Given the description of an element on the screen output the (x, y) to click on. 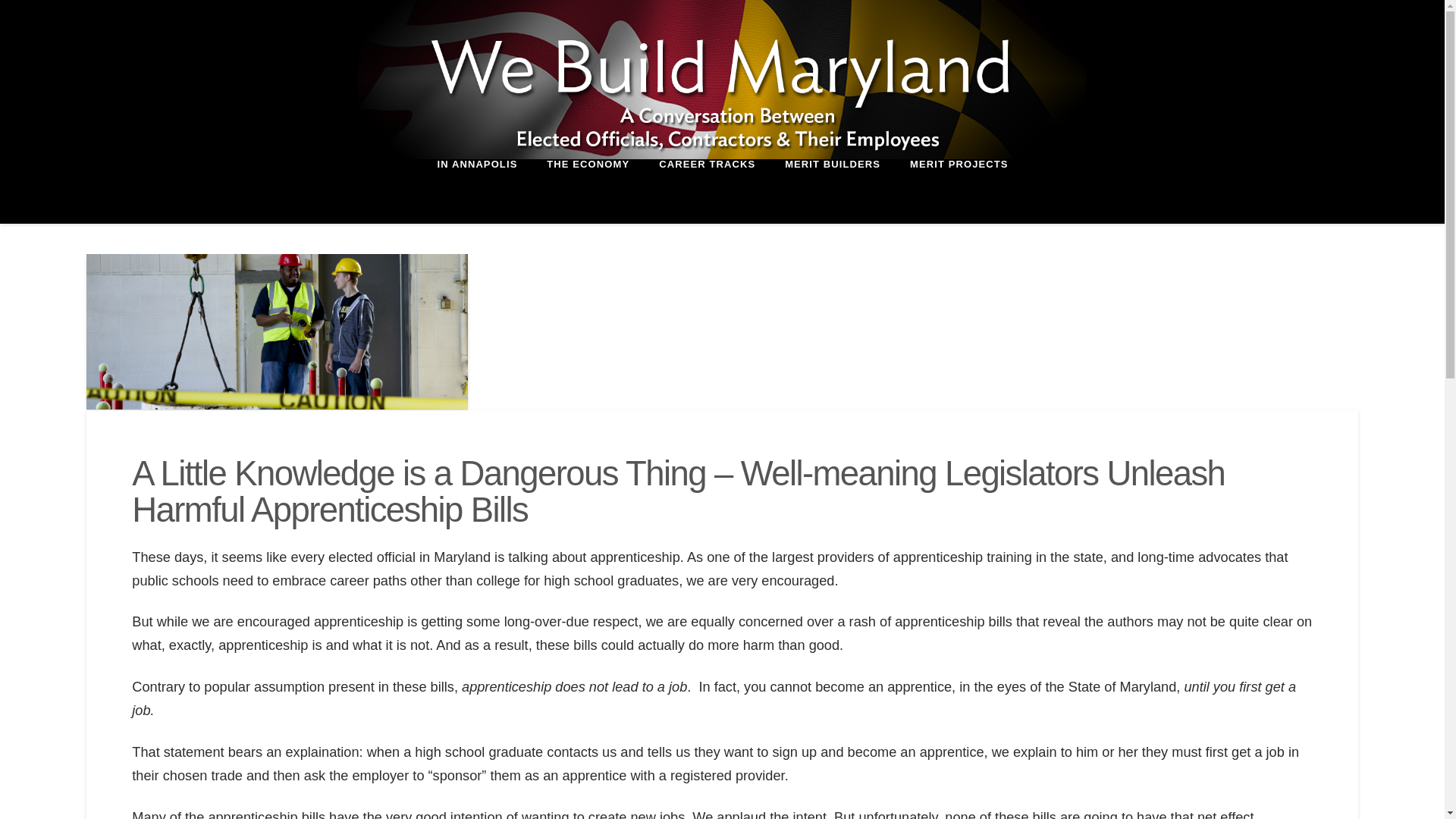
CAREER TRACKS (706, 190)
IN ANNAPOLIS (476, 190)
MERIT PROJECTS (959, 190)
MERIT BUILDERS (832, 190)
THE ECONOMY (587, 190)
